Given the description of an element on the screen output the (x, y) to click on. 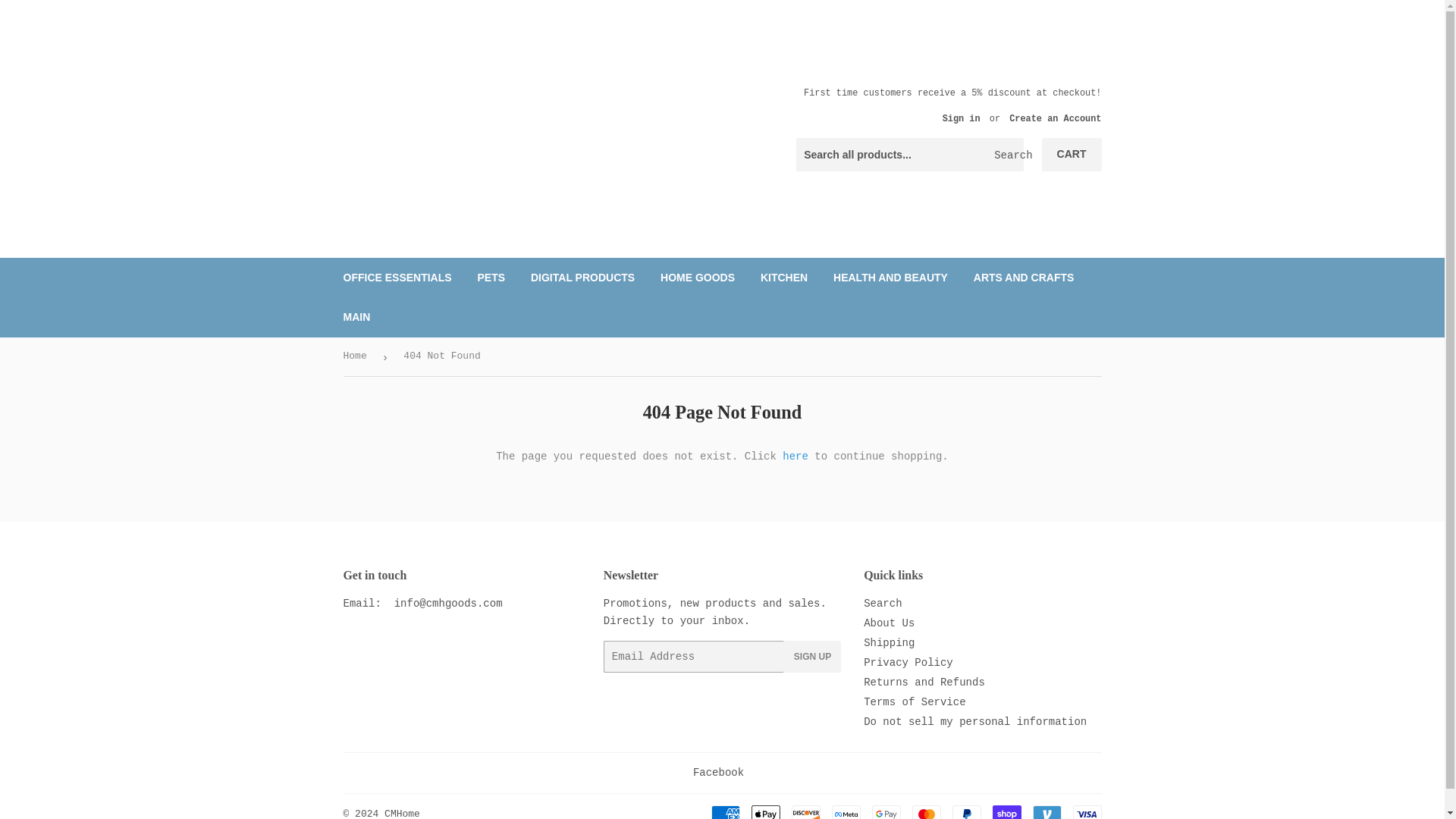
PETS (490, 277)
SIGN UP (812, 656)
Shop Pay (1005, 812)
KITCHEN (783, 277)
About Us (888, 623)
CMHome on Facebook (718, 772)
Google Pay (886, 812)
American Express (725, 812)
Discover (806, 812)
Apple Pay (764, 812)
